Given the description of an element on the screen output the (x, y) to click on. 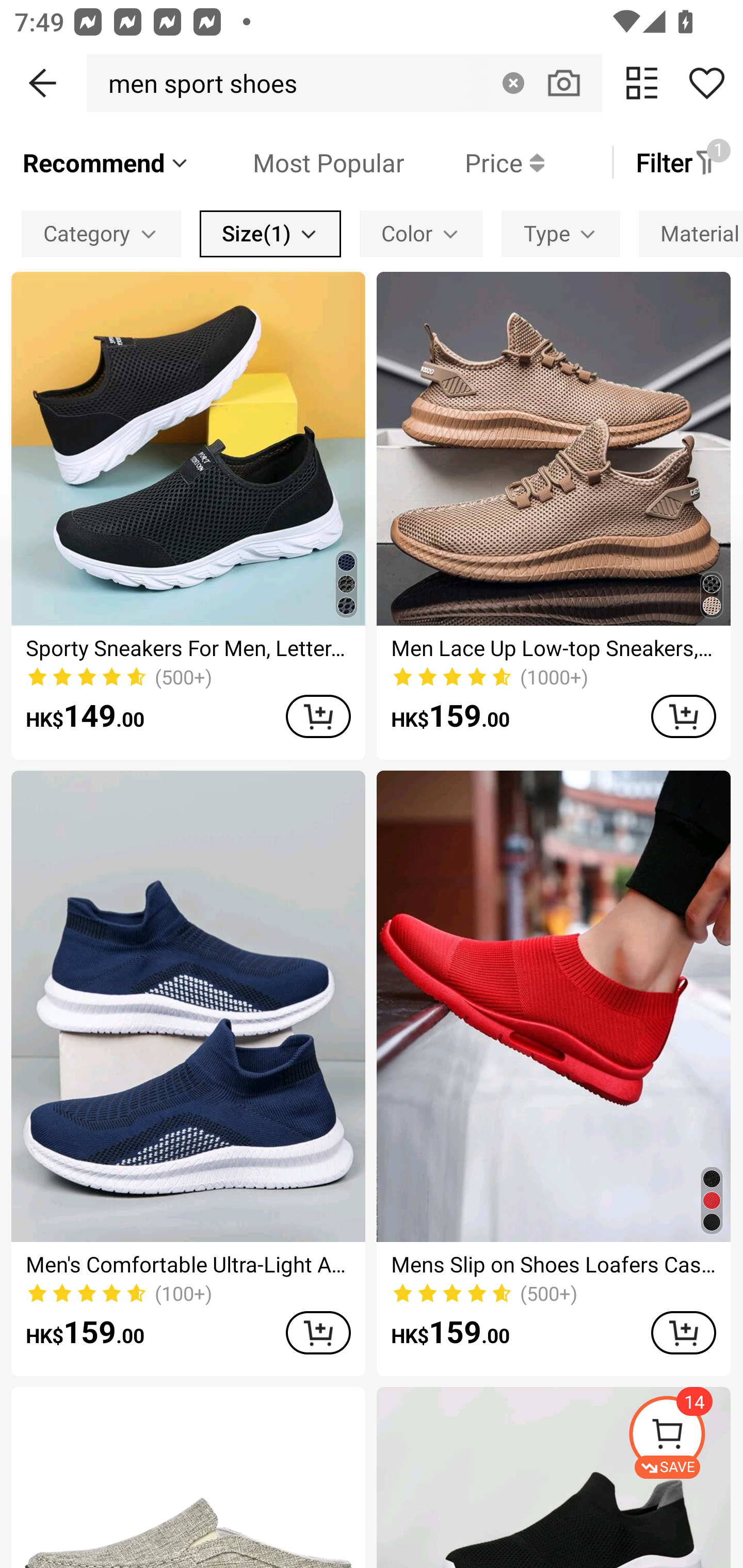
men sport shoes Clear (343, 82)
men sport shoes (197, 82)
Clear (513, 82)
change view (641, 82)
Share (706, 82)
Recommend (106, 162)
Most Popular (297, 162)
Price (474, 162)
Filter 1 (677, 162)
Category (101, 233)
Size(1) (270, 233)
Color (420, 233)
Type (560, 233)
Material (690, 233)
ADD TO CART (318, 716)
ADD TO CART (683, 716)
ADD TO CART (318, 1332)
ADD TO CART (683, 1332)
SAVE (685, 1436)
